Given the description of an element on the screen output the (x, y) to click on. 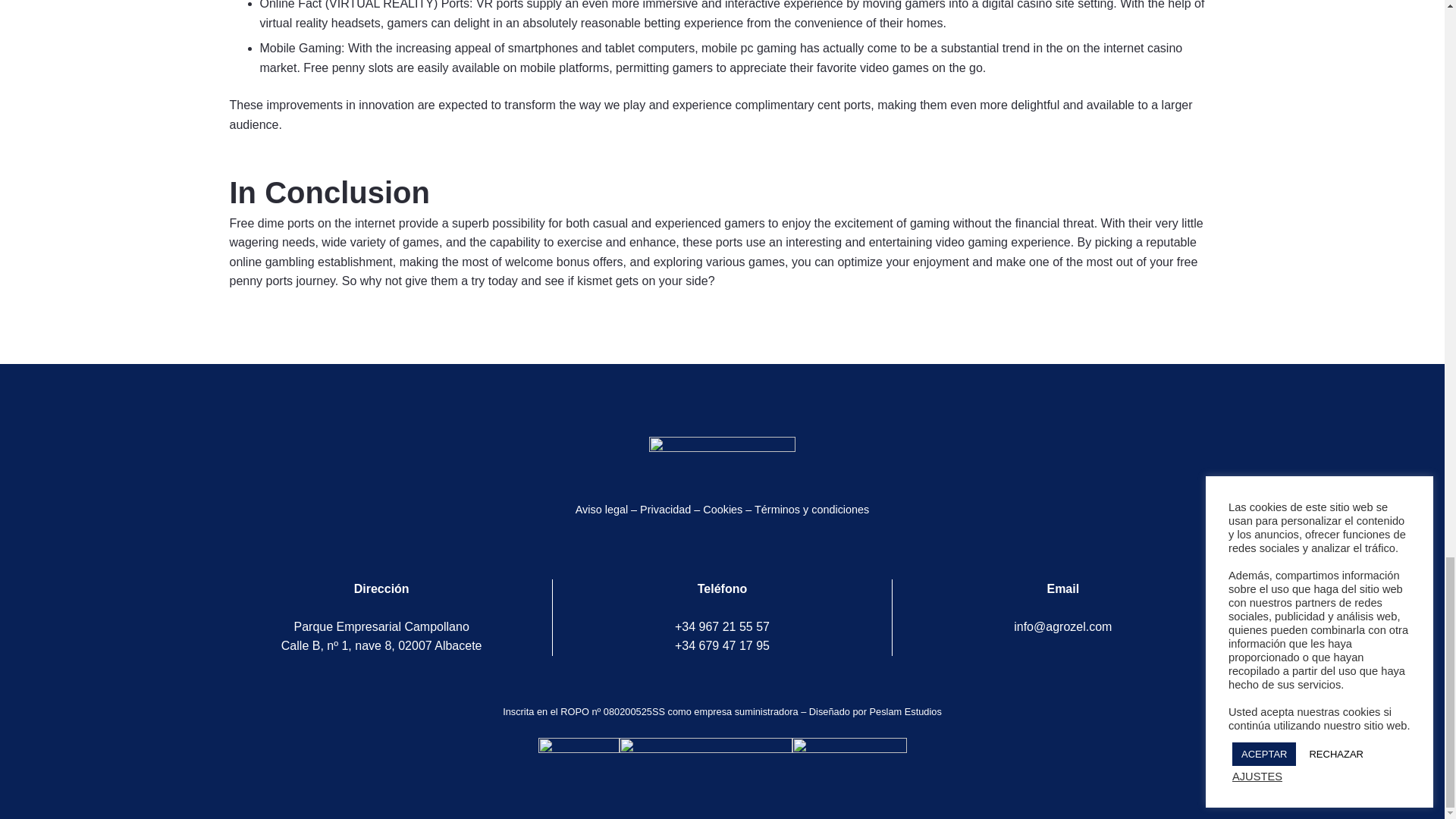
Privacidad (665, 509)
Cookies (722, 509)
Aviso legal (601, 509)
Peslam Estudios (905, 711)
